Given the description of an element on the screen output the (x, y) to click on. 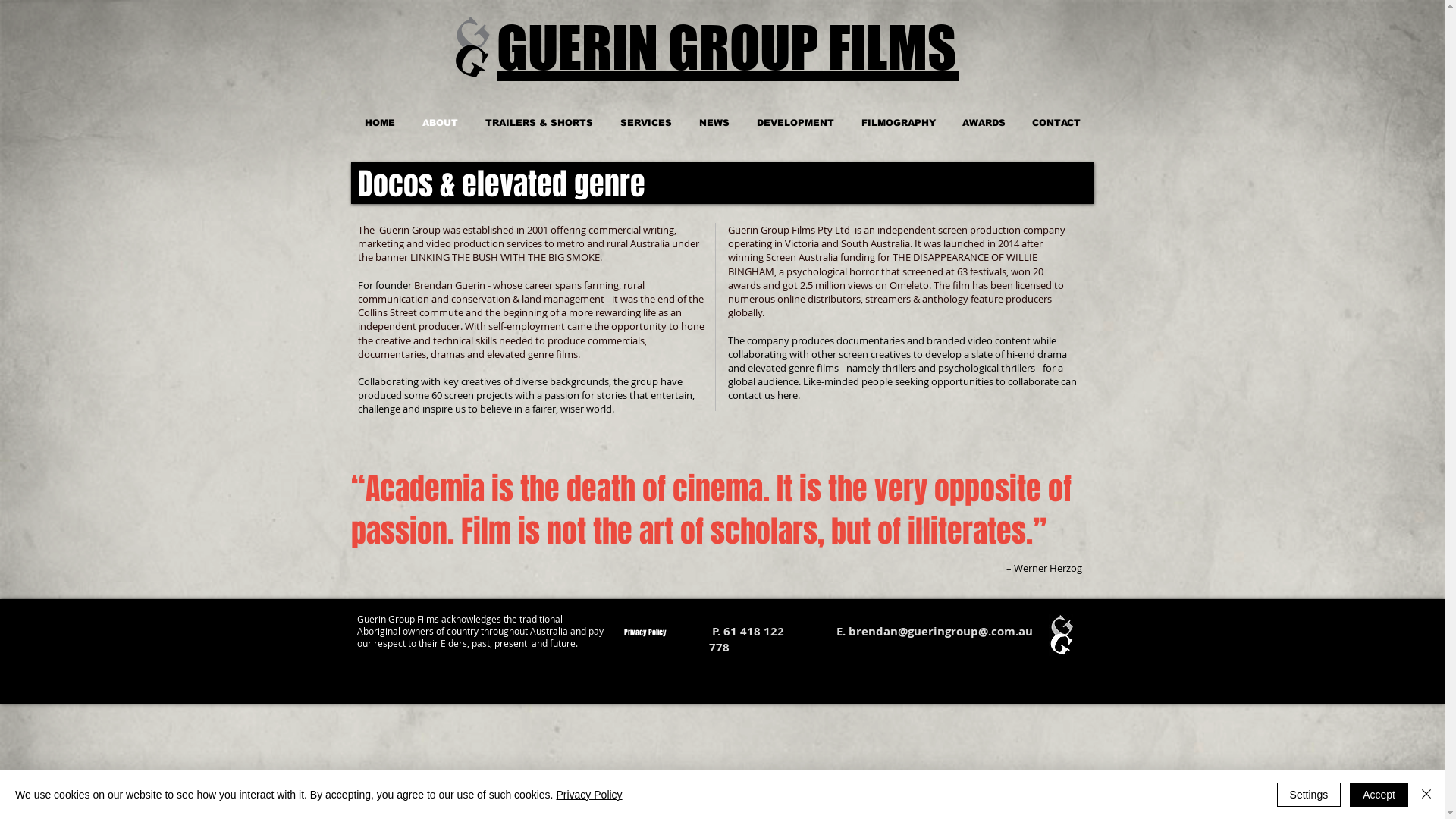
Accept Element type: text (1378, 794)
GUERIN GROUP FILMS Element type: text (725, 48)
HOME Element type: text (378, 122)
DEVELOPMENT Element type: text (795, 122)
AWARDS Element type: text (984, 122)
NEWS Element type: text (714, 122)
Privacy Policy Element type: text (644, 632)
Privacy Policy Element type: text (588, 794)
Settings Element type: text (1309, 794)
SERVICES Element type: text (645, 122)
ABOUT Element type: text (438, 122)
CONTACT Element type: text (1056, 122)
TRAILERS & SHORTS Element type: text (538, 122)
here Element type: text (786, 394)
FILMOGRAPHY Element type: text (898, 122)
